Given the description of an element on the screen output the (x, y) to click on. 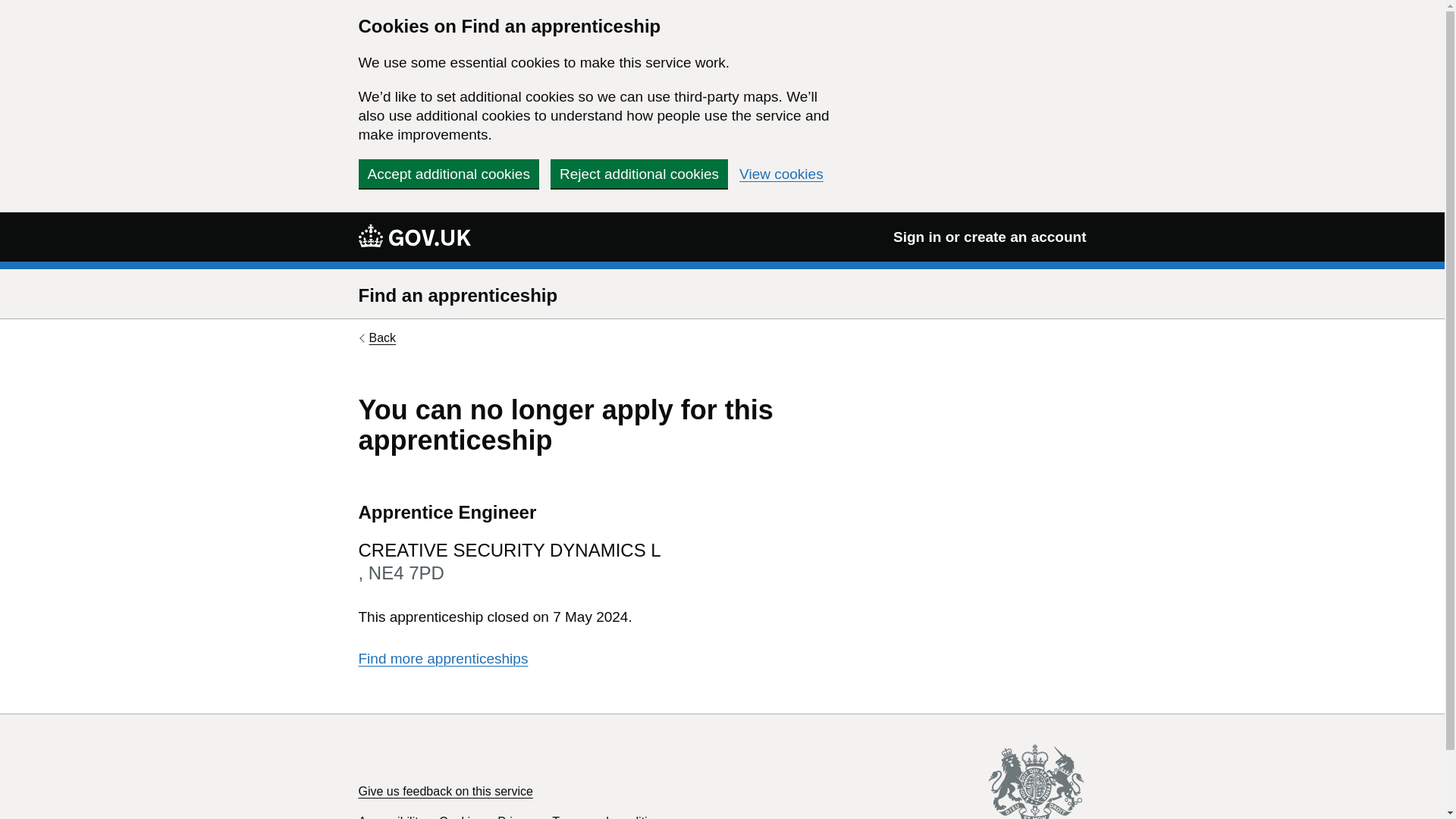
Back (377, 337)
Terms and conditions (608, 816)
GOV.UK (414, 235)
Cookies (461, 816)
Reject additional cookies (639, 173)
Accept additional cookies (448, 173)
GOV.UK (414, 235)
View cookies (781, 173)
Sign in or create an account (989, 236)
Accessibility (390, 816)
Privacy (517, 816)
Skip to main content (11, 7)
Find more apprenticeships (442, 658)
Give us feedback on this service (445, 790)
